Given the description of an element on the screen output the (x, y) to click on. 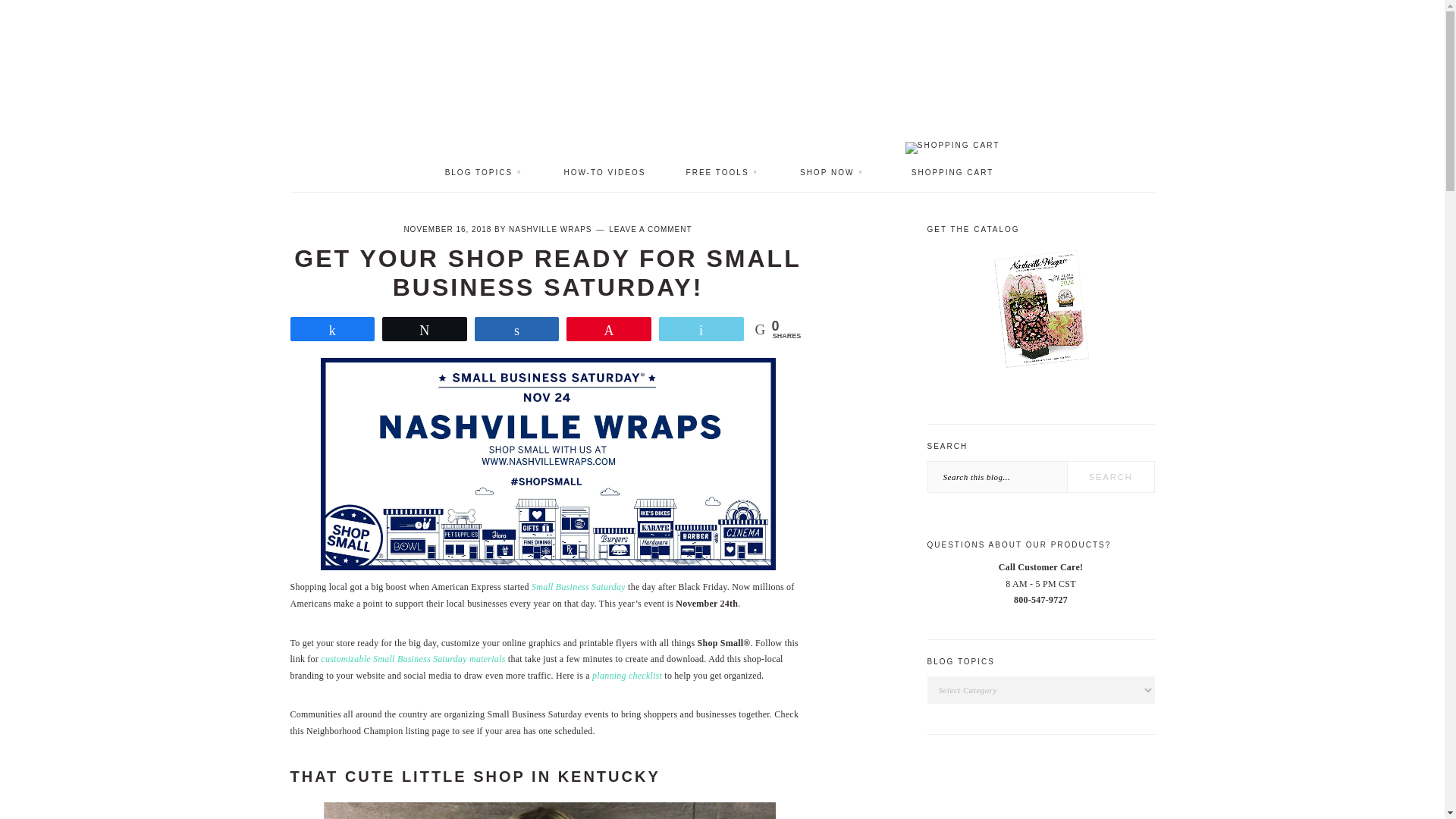
Nashville Wraps Store (721, 32)
Search (1110, 477)
Nashville Wraps Blog (721, 88)
NASHVILLE WRAPS STORE (721, 32)
BLOG TOPICS (484, 172)
NASHVILLE WRAPS BLOG (721, 88)
NASHVILLE WRAPS (549, 229)
SHOP NOW (831, 172)
Search (1110, 477)
HOW-TO VIDEOS (603, 172)
SHOPPING CART (952, 158)
FREE TOOLS (722, 172)
LEAVE A COMMENT (649, 229)
